Given the description of an element on the screen output the (x, y) to click on. 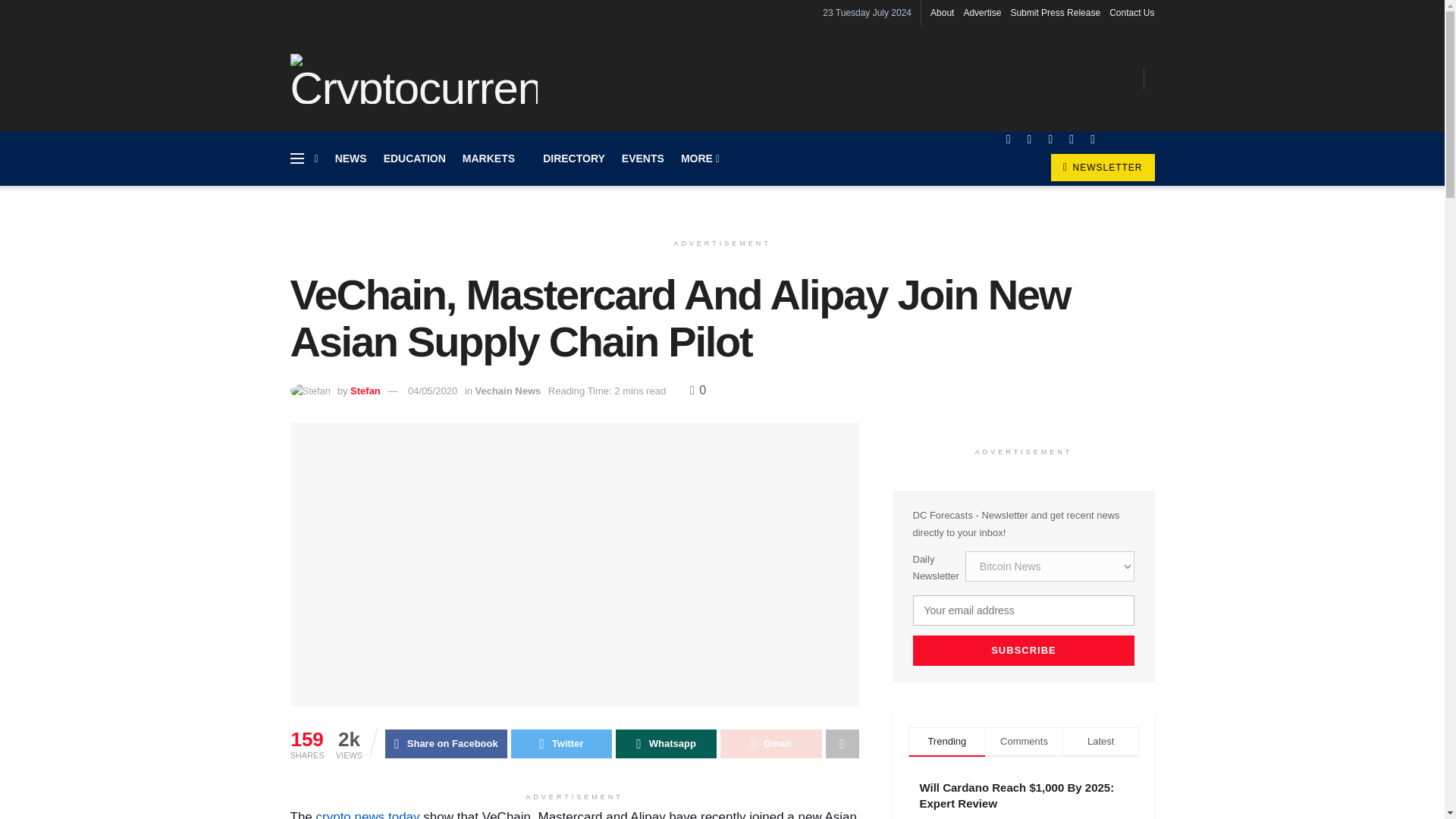
SUBSCRIBE (1023, 650)
Advertise (981, 12)
Contact Us (1131, 12)
Submit Press Release (1055, 12)
About (941, 12)
